Given the description of an element on the screen output the (x, y) to click on. 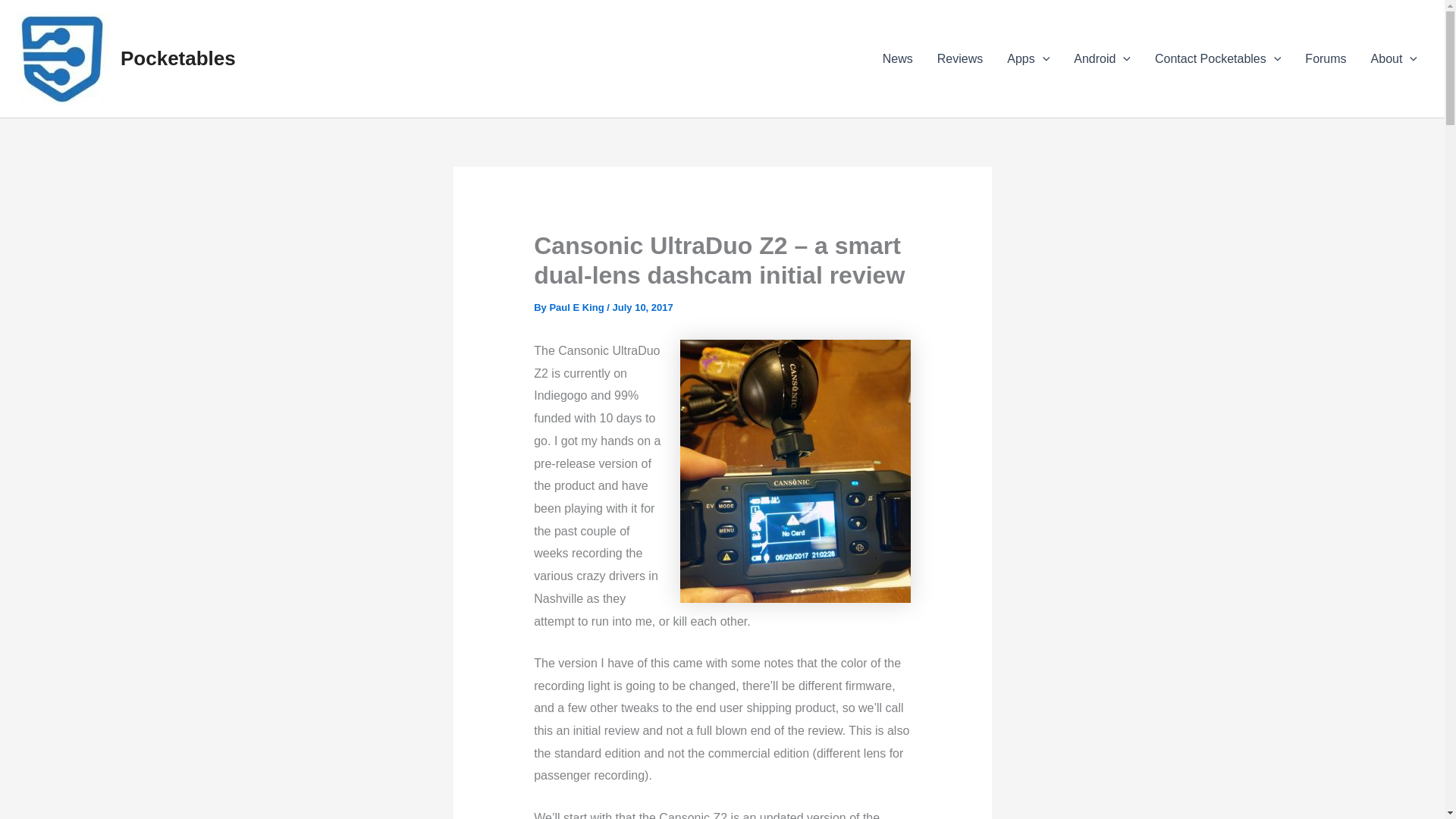
Contact Pocketables (1217, 58)
Reviews (959, 58)
Pocketables (177, 57)
Apps (1027, 58)
Android (1101, 58)
Forums (1325, 58)
About (1393, 58)
News (897, 58)
View all posts by Paul E King (576, 307)
